Given the description of an element on the screen output the (x, y) to click on. 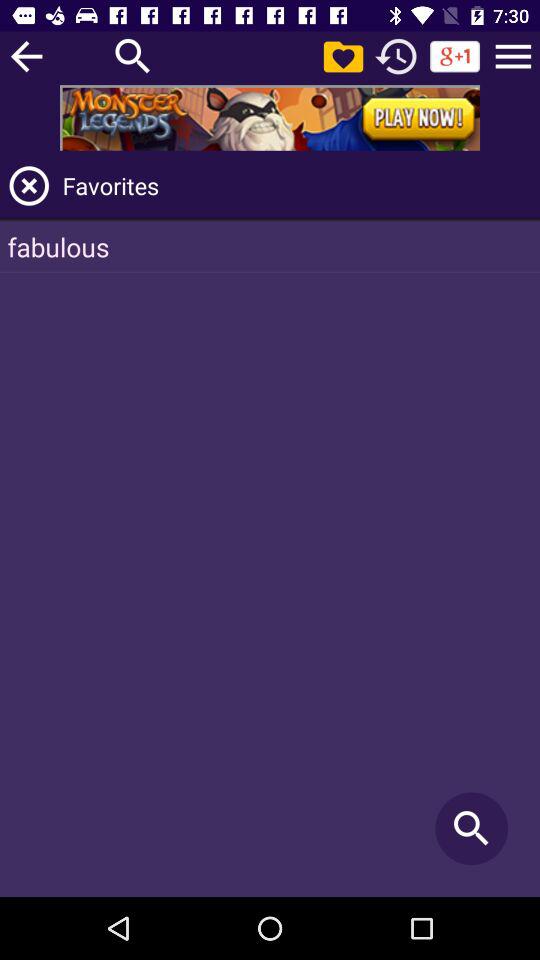
fav folder (343, 56)
